Given the description of an element on the screen output the (x, y) to click on. 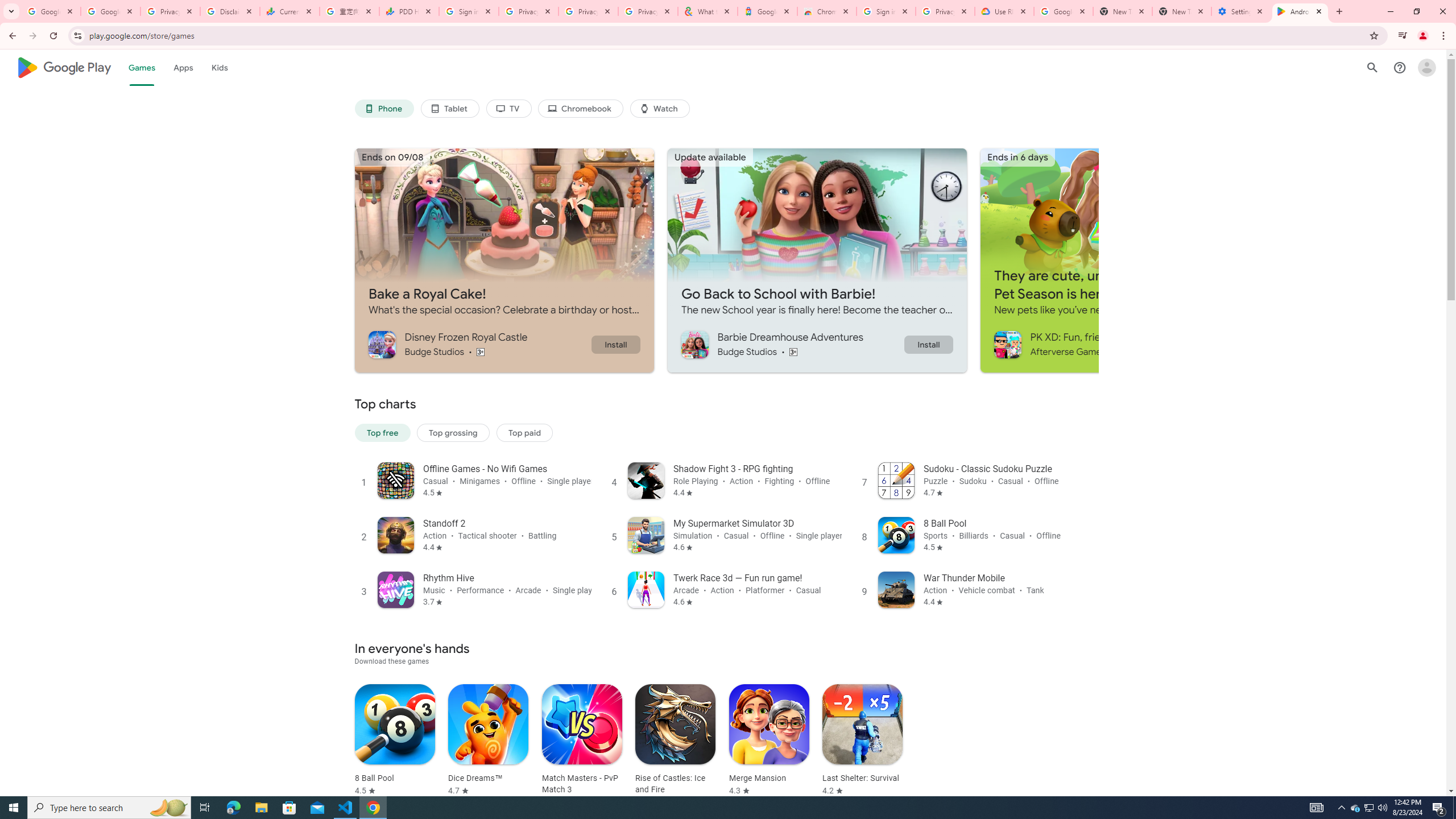
Export (59, 536)
New (59, 118)
Start searching (669, 313)
